Given the description of an element on the screen output the (x, y) to click on. 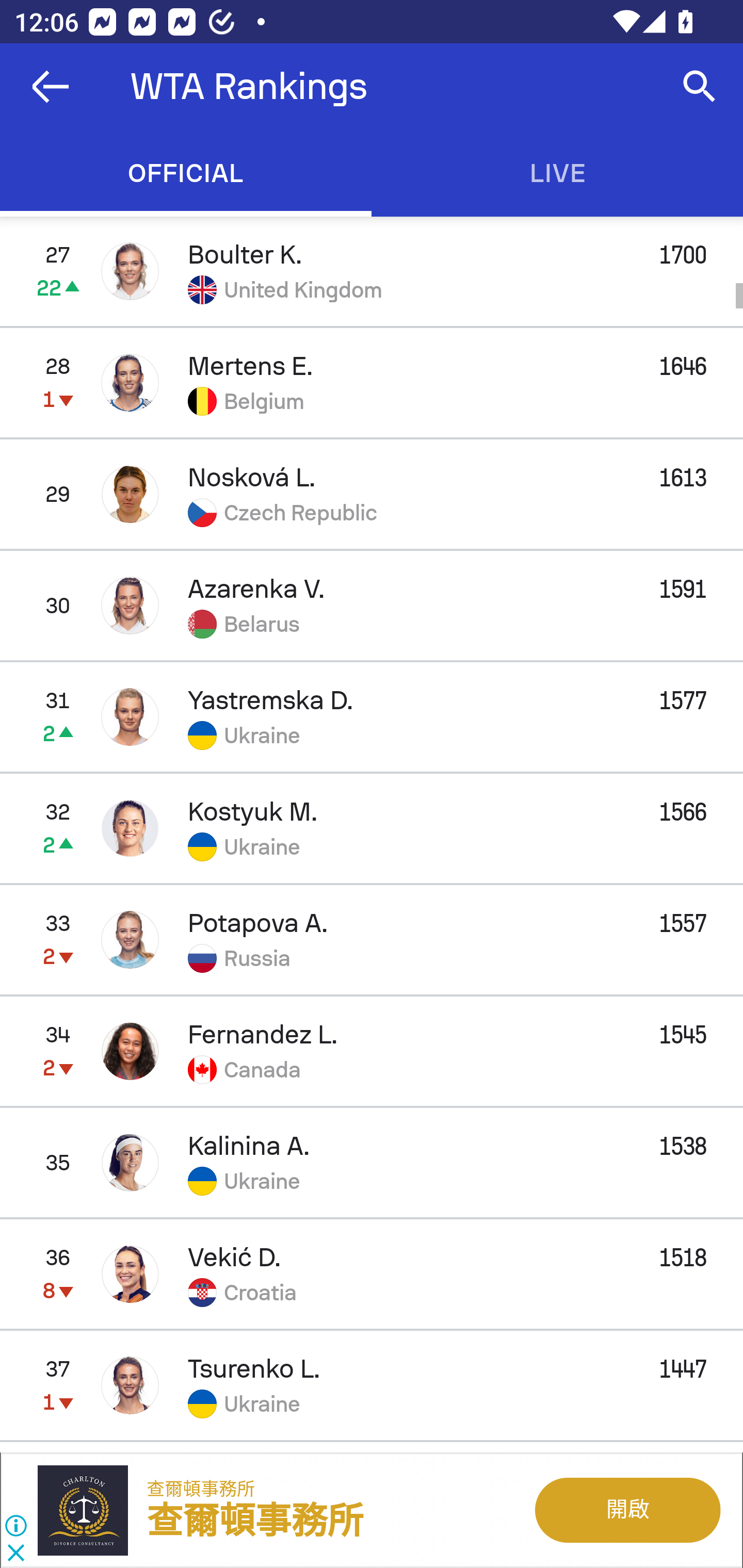
Navigate up (50, 86)
Search (699, 86)
Live LIVE (557, 173)
27 22 Boulter K. 1700 United Kingdom (371, 271)
28 1 Mertens E. 1646 Belgium (371, 382)
29 Nosková L. 1613 Czech Republic (371, 493)
30 Azarenka V. 1591 Belarus (371, 605)
31 2 Yastremska D. 1577 Ukraine (371, 716)
32 2 Kostyuk M. 1566 Ukraine (371, 827)
33 2 Potapova A. 1557 Russia (371, 939)
34 2 Fernandez L. 1545 Canada (371, 1051)
35 Kalinina A. 1538 Ukraine (371, 1162)
36 8 Vekić D. 1518 Croatia (371, 1273)
37 1 Tsurenko L. 1447 Ukraine (371, 1385)
www.charltondivorce (92, 1509)
查爾頓事務所 (200, 1488)
開啟 (626, 1509)
查爾頓事務所 (254, 1521)
